Given the description of an element on the screen output the (x, y) to click on. 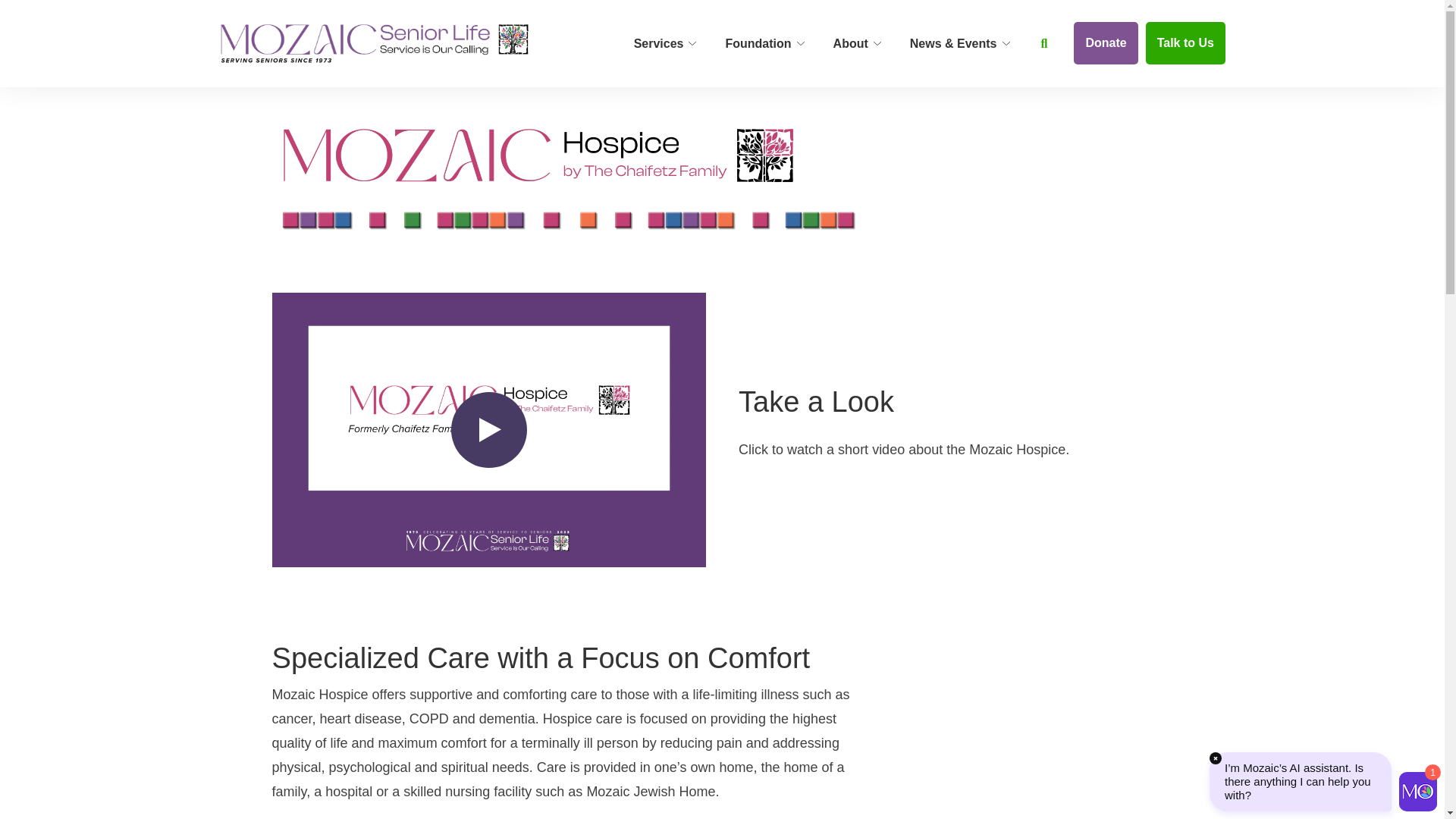
Services (663, 43)
